Given the description of an element on the screen output the (x, y) to click on. 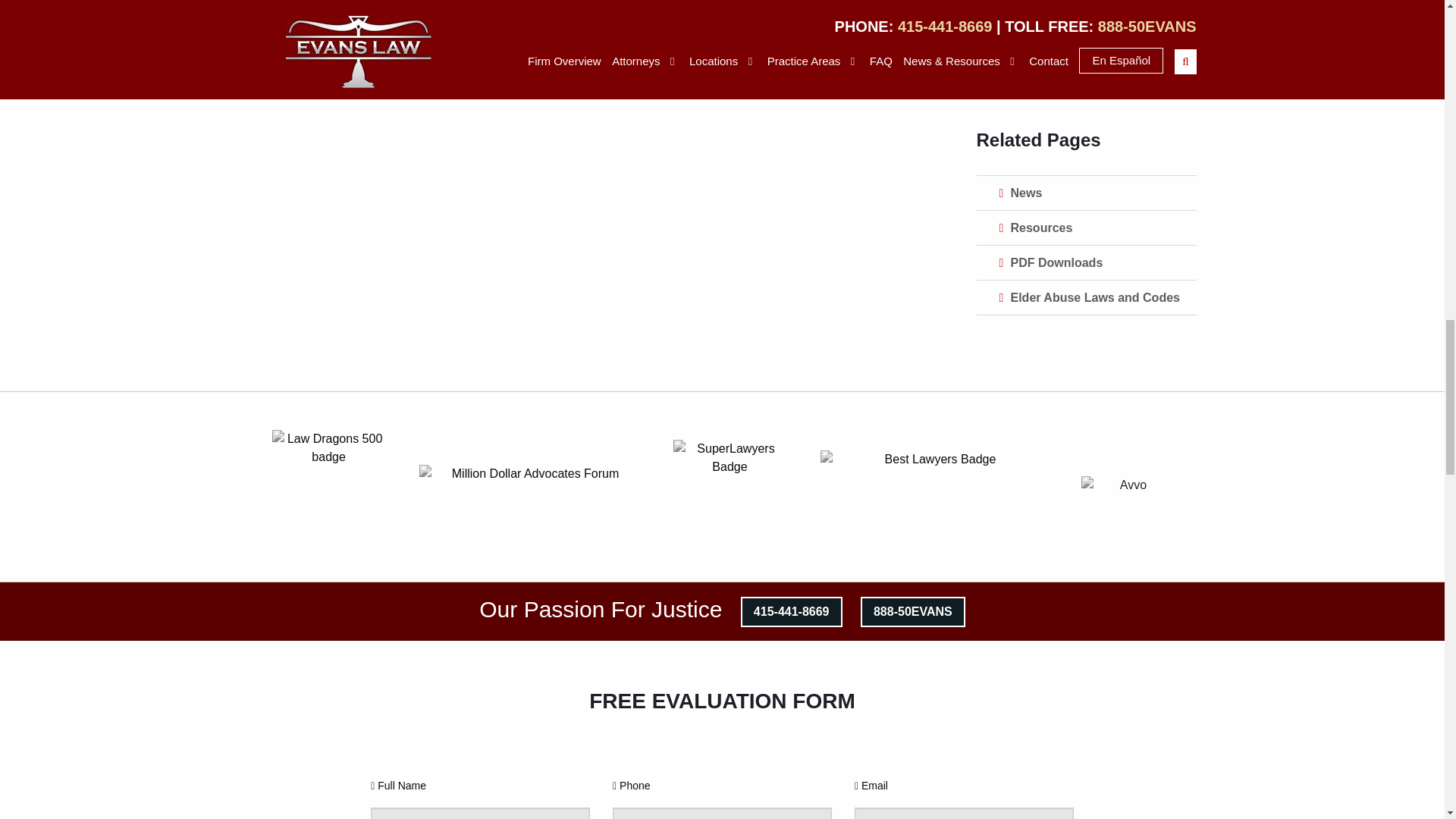
Year 2012 archives (1086, 59)
Year 2014 archives (1086, 3)
Year 2011 archives (1086, 94)
Year 2013 archives (1086, 25)
